Given the description of an element on the screen output the (x, y) to click on. 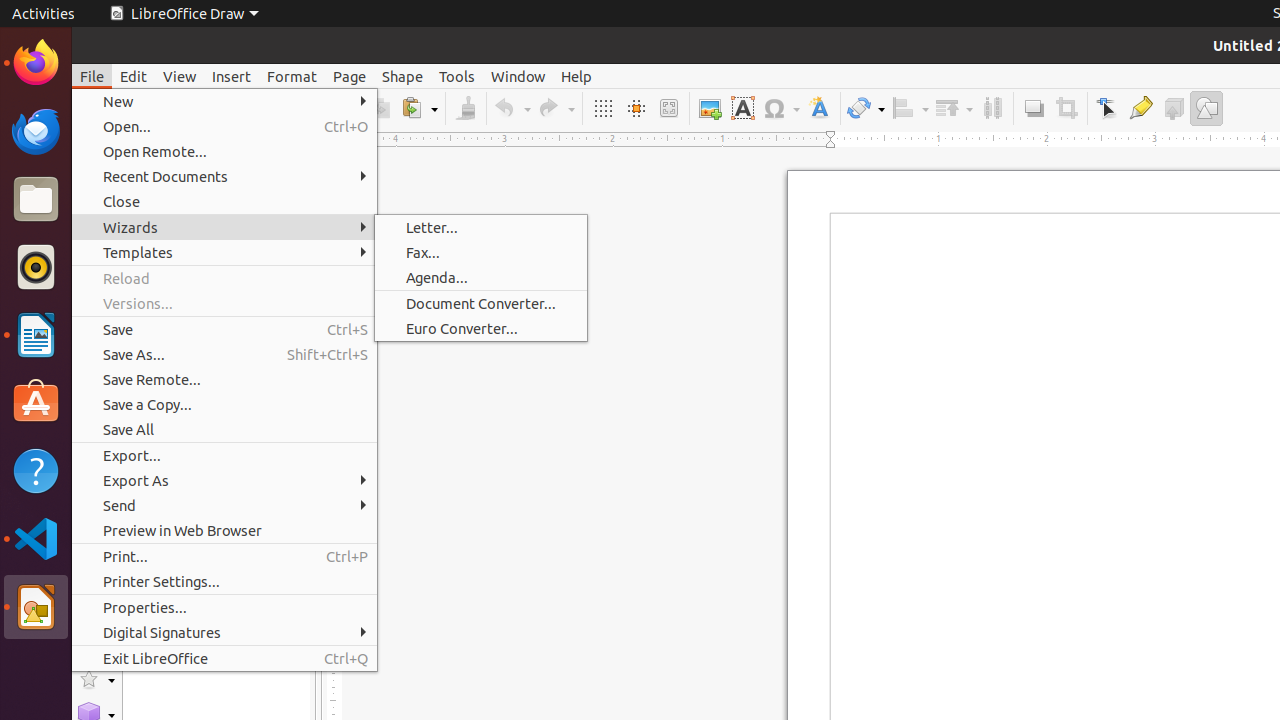
Wizards Element type: menu (224, 227)
Draw Functions Element type: toggle-button (1206, 108)
Align Element type: push-button (910, 108)
Zoom & Pan Element type: push-button (668, 108)
Redo Element type: push-button (556, 108)
